Given the description of an element on the screen output the (x, y) to click on. 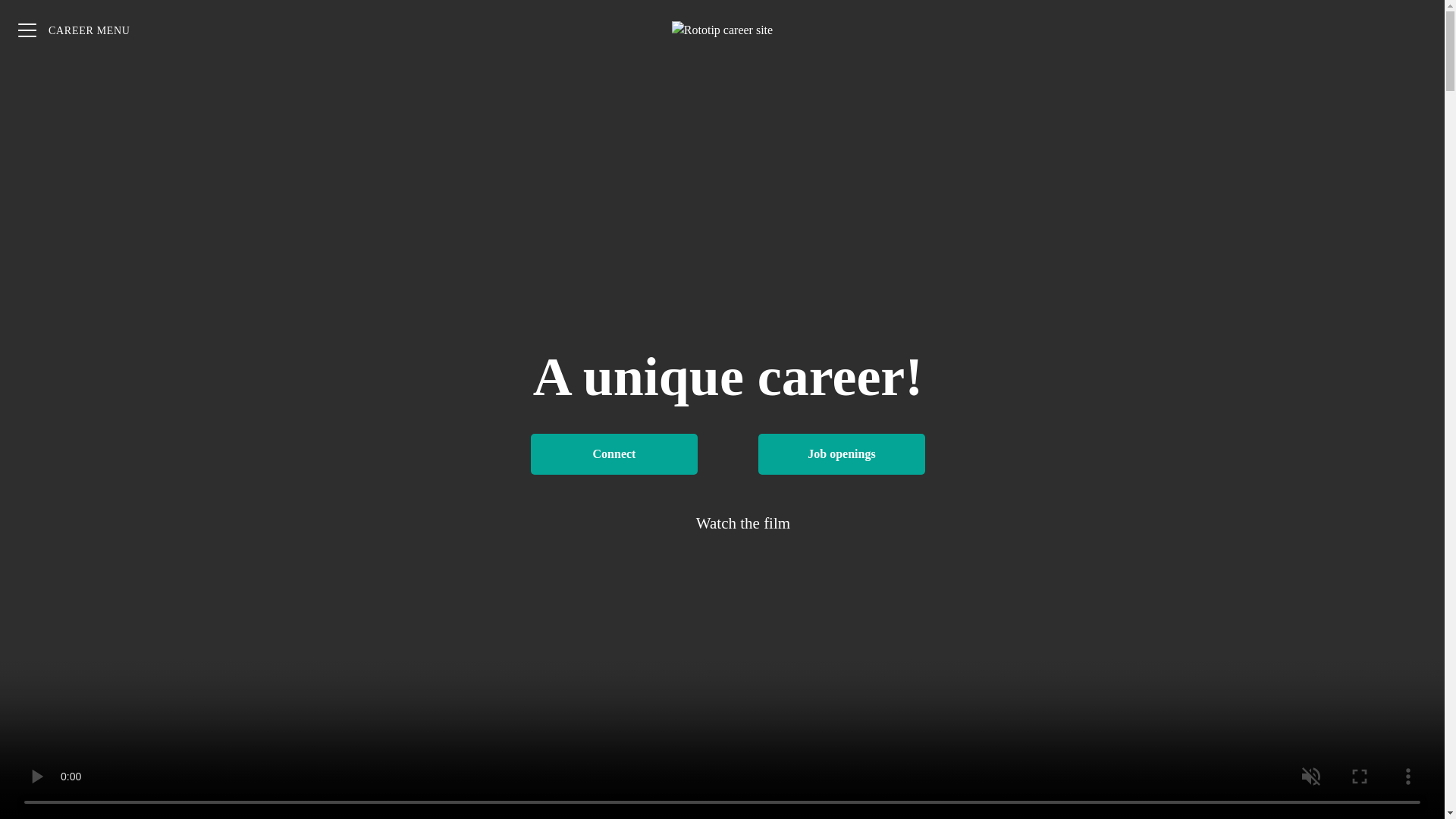
Job openings (841, 454)
Connect (614, 454)
Watch the film (727, 523)
Watch the film (727, 523)
Career menu (73, 30)
CAREER MENU (73, 30)
Share page (1414, 30)
